Given the description of an element on the screen output the (x, y) to click on. 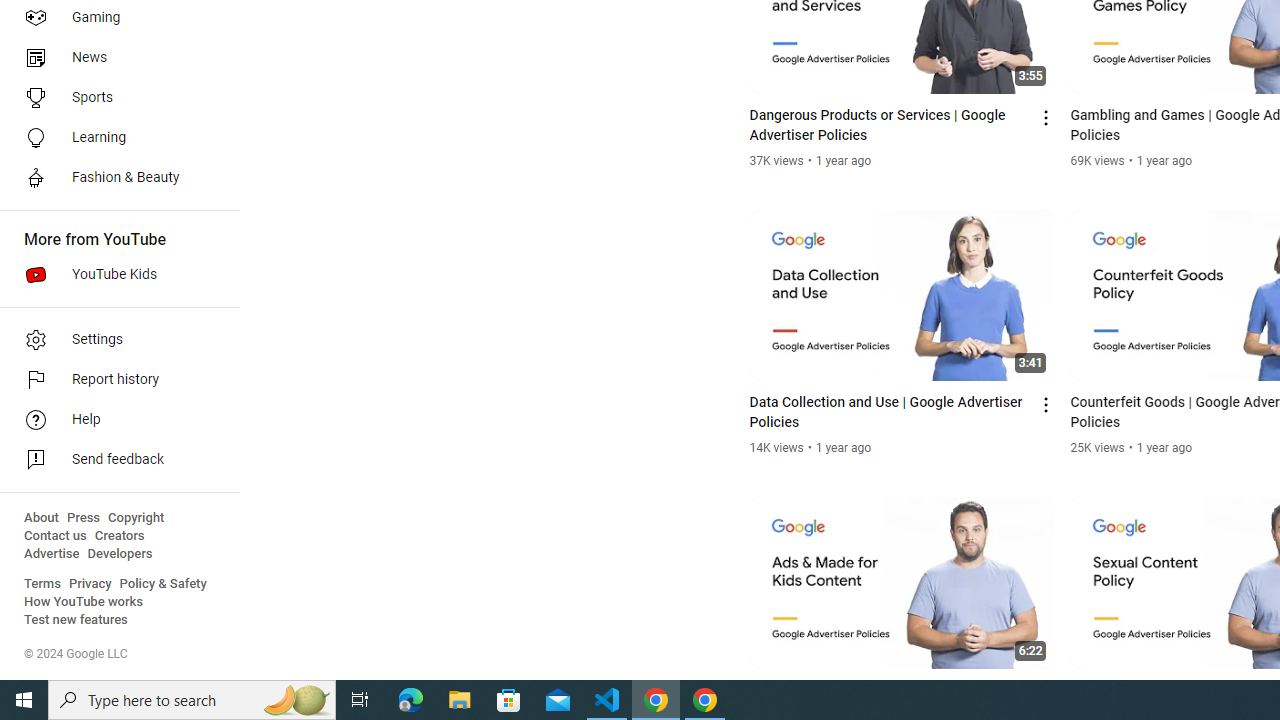
How YouTube works (83, 602)
News (113, 57)
Test new features (76, 620)
Fashion & Beauty (113, 177)
Learning (113, 137)
Sports (113, 97)
Report history (113, 380)
Developers (120, 554)
Advertise (51, 554)
Help (113, 419)
Press (83, 518)
YouTube Kids (113, 274)
Action menu (1046, 691)
